Given the description of an element on the screen output the (x, y) to click on. 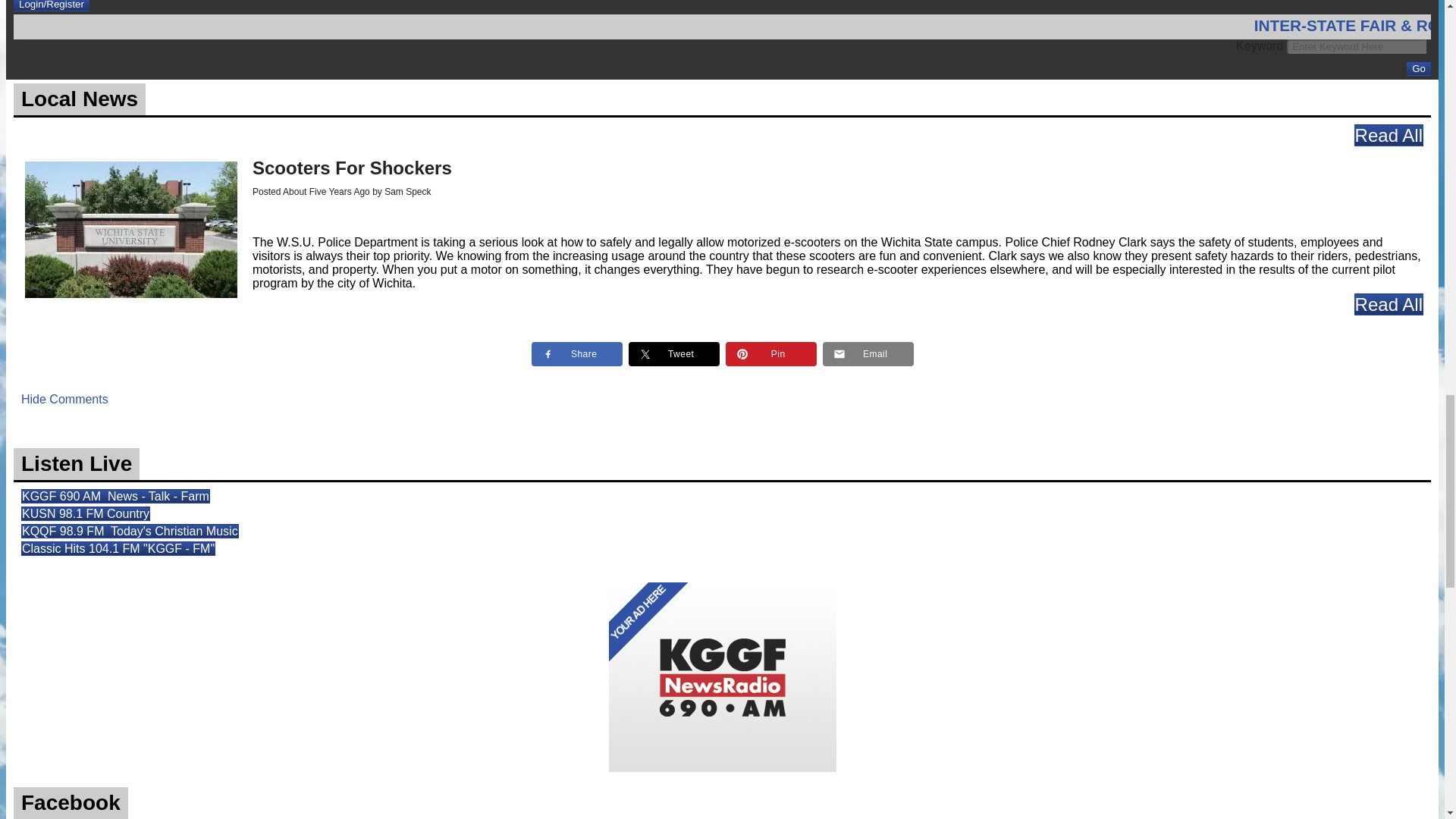
Enter Keyword Here (1356, 46)
Read All (1388, 135)
